Given the description of an element on the screen output the (x, y) to click on. 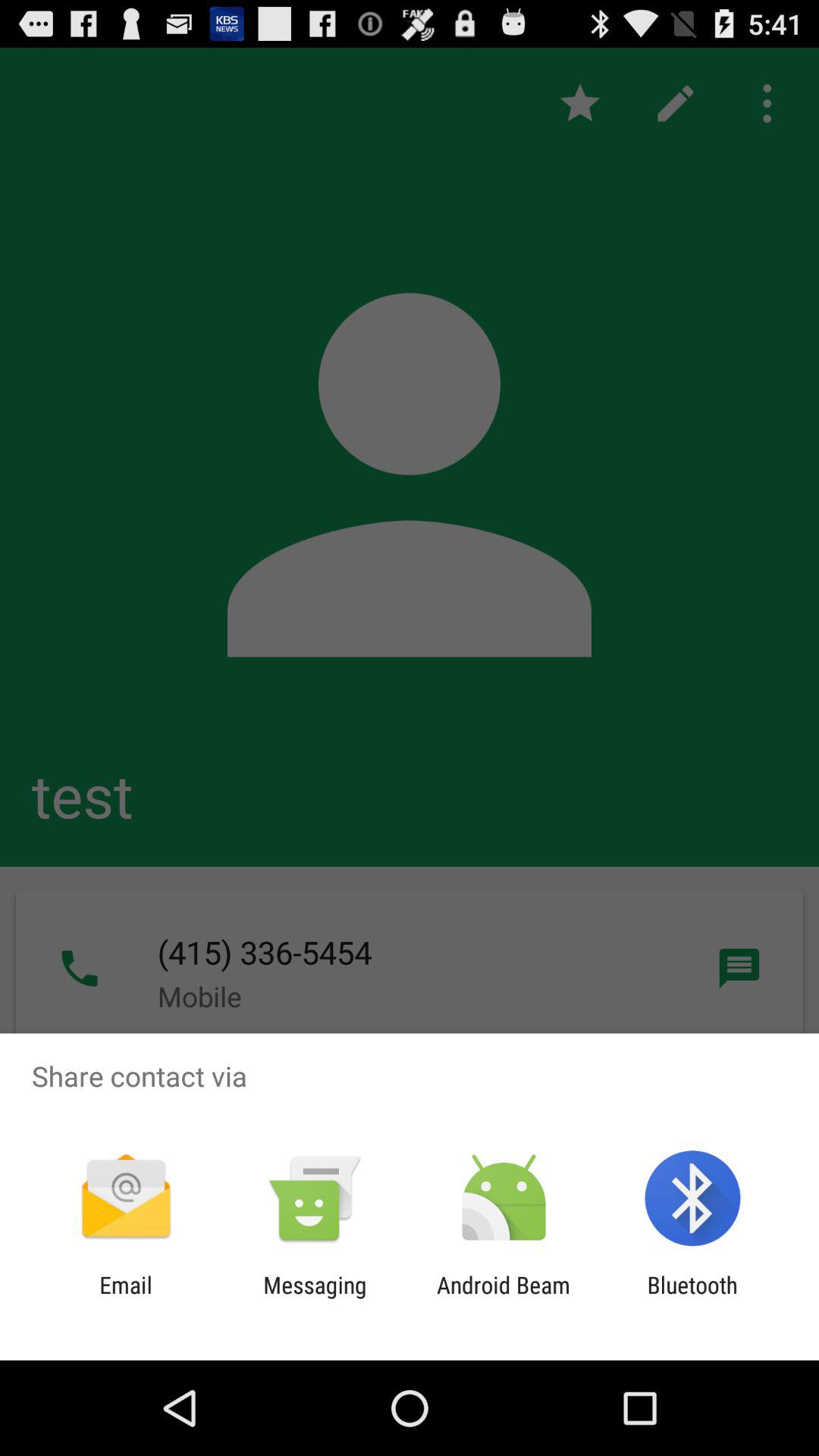
open the app to the right of messaging item (503, 1298)
